Given the description of an element on the screen output the (x, y) to click on. 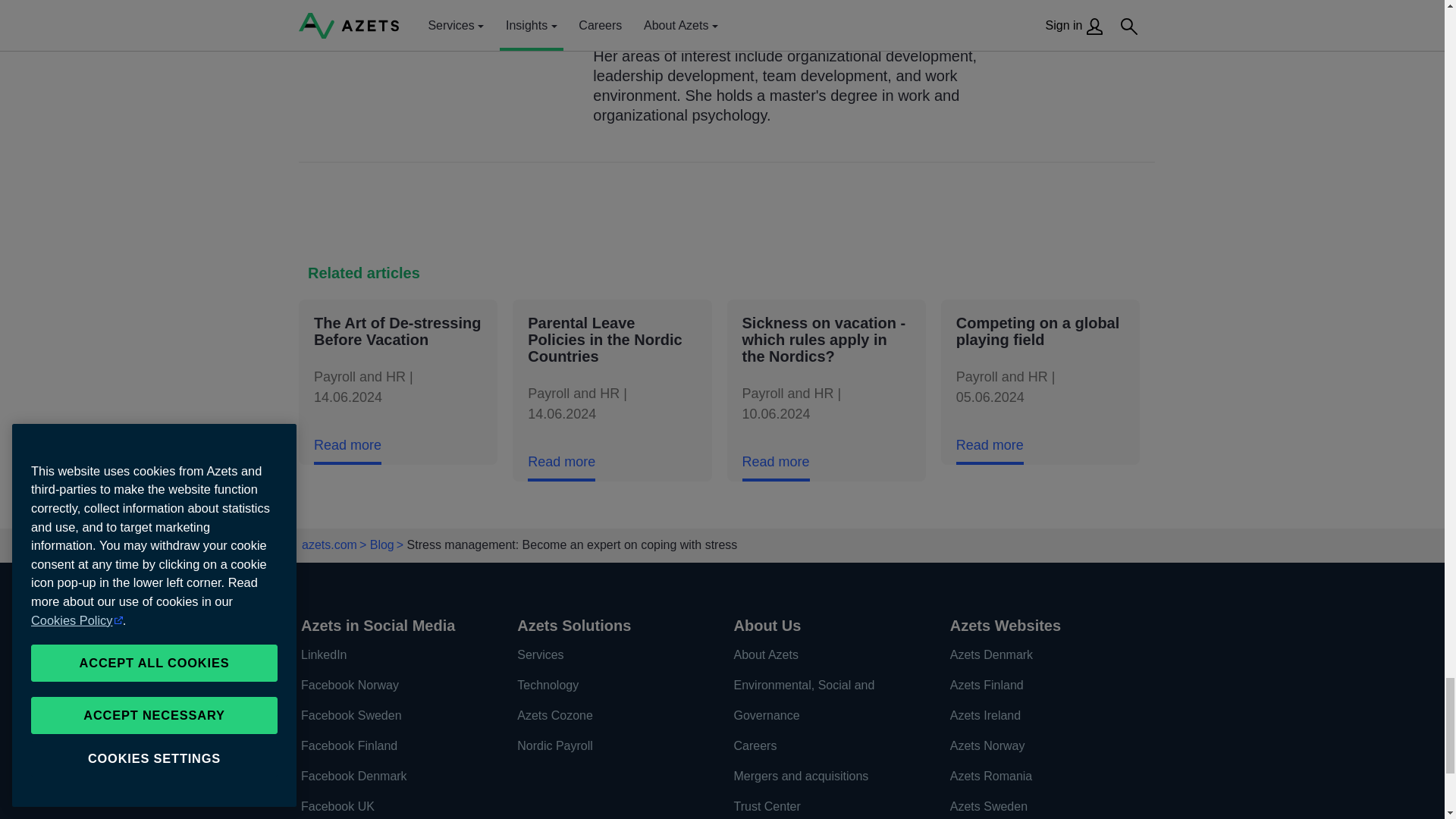
Facebook UK (392, 805)
Facebook Sweden (392, 716)
Azets Cozone (609, 716)
azets.com (328, 544)
Facebook UK (392, 805)
Services (609, 654)
Facebook Denmark (392, 776)
Facebook Norway (392, 685)
Facebook Denmark (392, 776)
Technology (609, 685)
Facebook Finland (392, 746)
Facebook Norway (392, 685)
Services (609, 654)
LinkedIn (392, 654)
Facebook Sweden (392, 716)
